Given the description of an element on the screen output the (x, y) to click on. 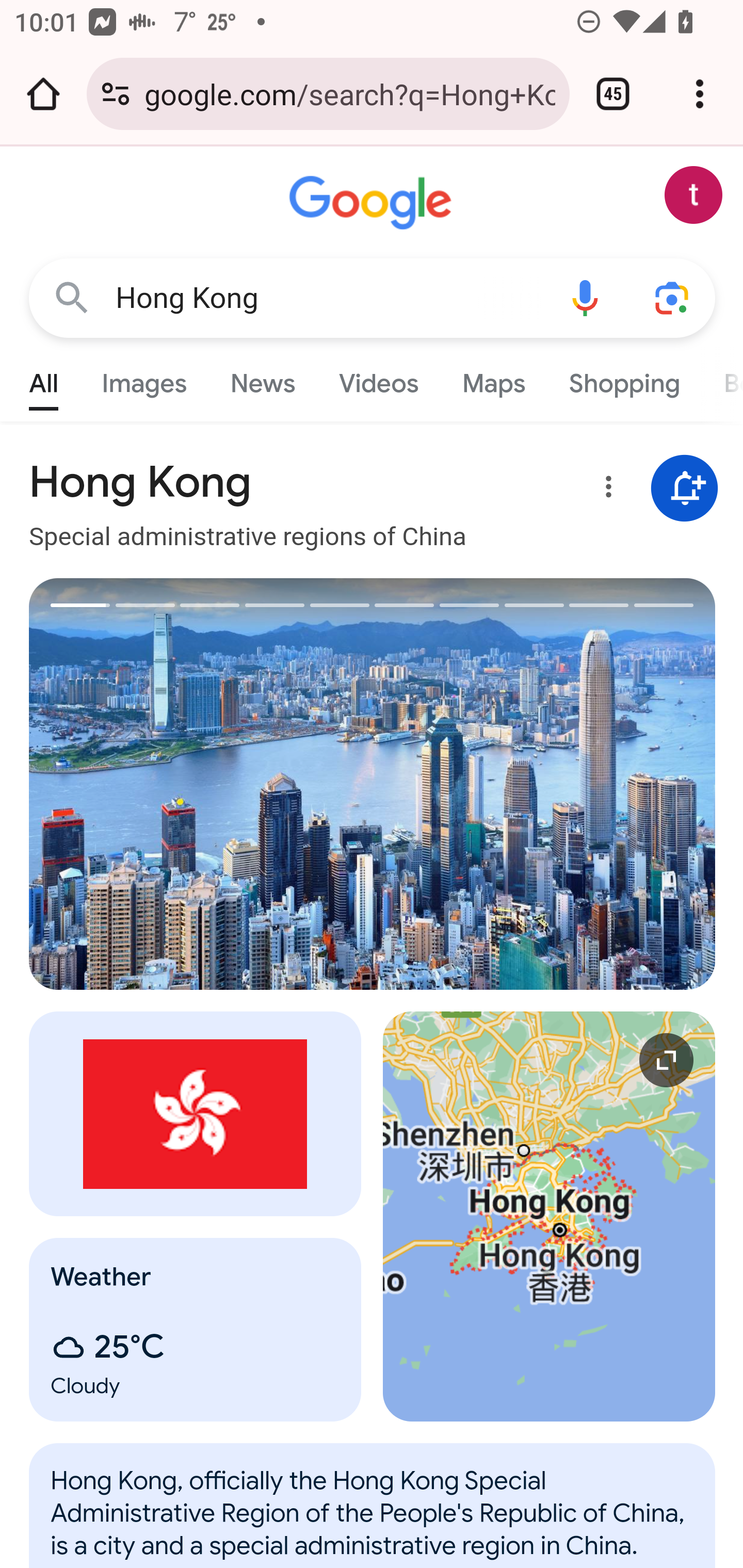
Open the home page (43, 93)
Connection is secure (115, 93)
Switch or close tabs (612, 93)
Customize and control Google Chrome (699, 93)
Google (372, 203)
Google Search (71, 296)
Search using your camera or photos (672, 296)
Hong Kong (328, 297)
Images (144, 378)
News (262, 378)
Videos (378, 378)
Maps (493, 378)
Shopping (623, 378)
Get notifications about Hong Kong (684, 489)
More options (605, 489)
Previous image (200, 783)
Next image (544, 783)
Expand map (549, 1216)
Image of the flag. (195, 1113)
Weather 25° Cloudy (195, 1328)
Hong_Kong (372, 1516)
